Given the description of an element on the screen output the (x, y) to click on. 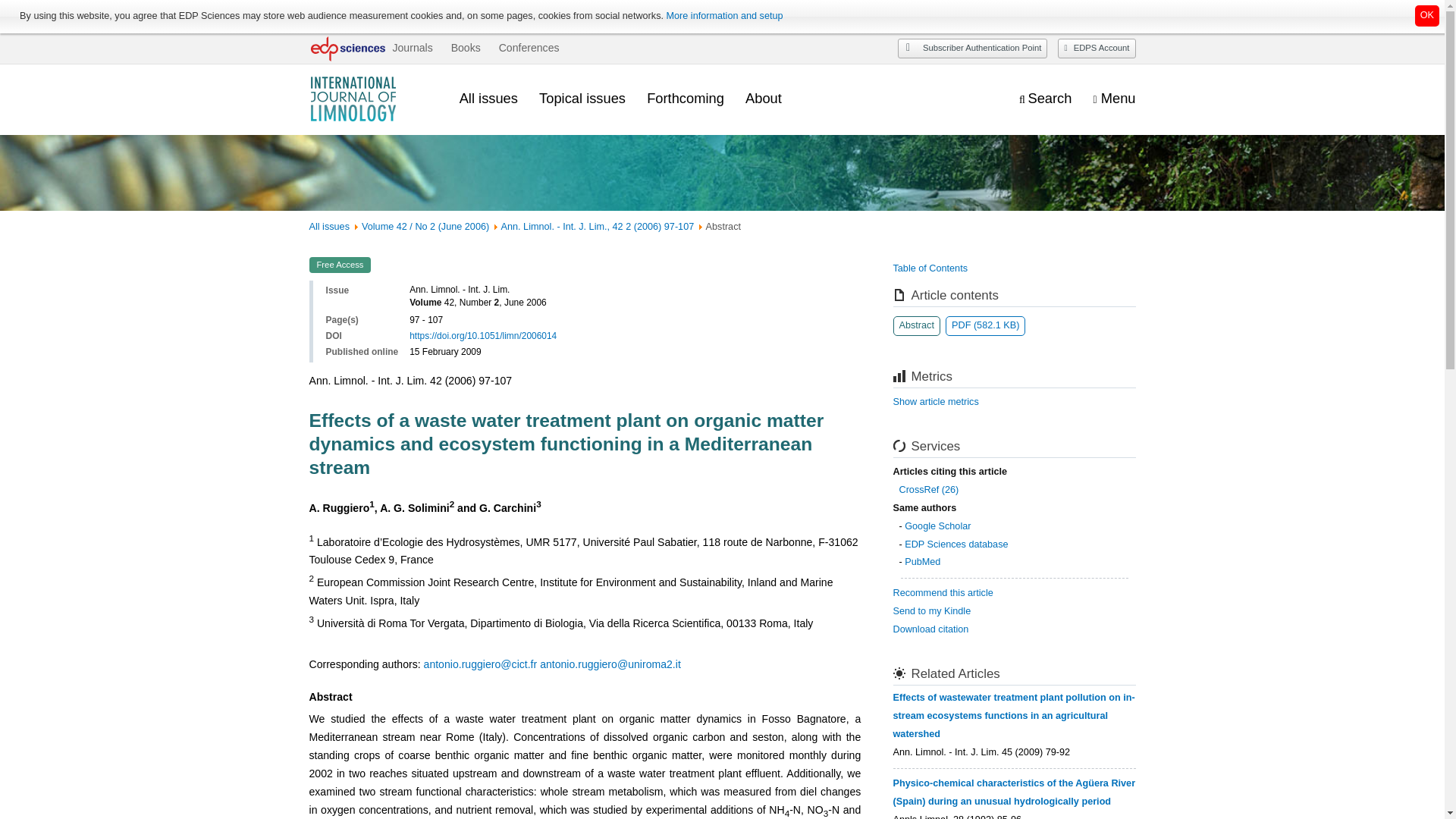
Send this article to my Kindle (932, 611)
More information and setup (724, 15)
Abstract (916, 325)
Journal homepage (373, 99)
All issues (489, 98)
Display the search engine (1045, 98)
Books (465, 47)
Journals (411, 47)
Conferences (529, 47)
OK (1427, 15)
Click to close this notification (1427, 15)
